Given the description of an element on the screen output the (x, y) to click on. 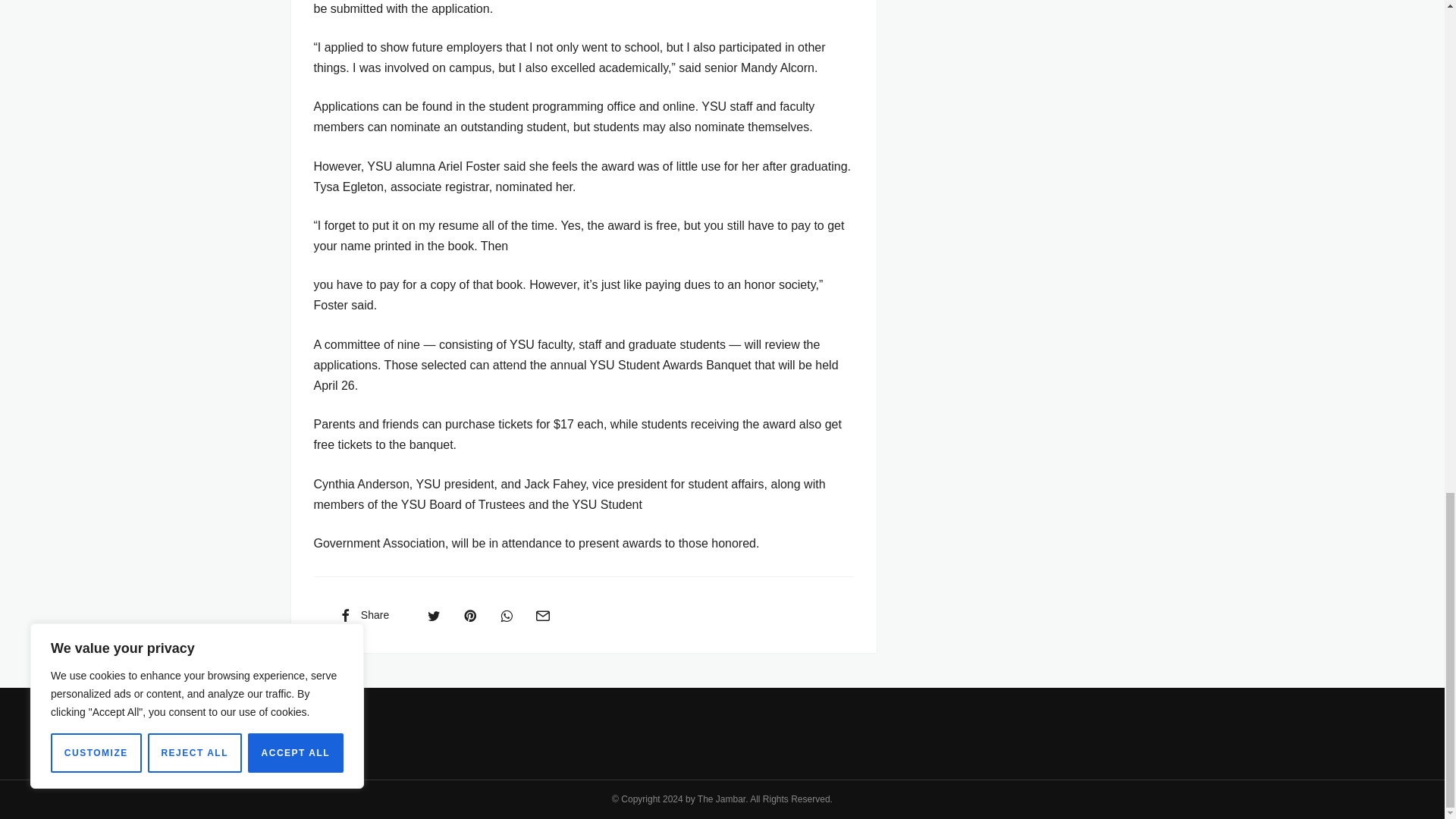
Share on Facebook (363, 614)
Pin this Post (469, 614)
Share on Twitter (433, 614)
Share via Email (542, 614)
Share on Whatsapp (506, 614)
